Given the description of an element on the screen output the (x, y) to click on. 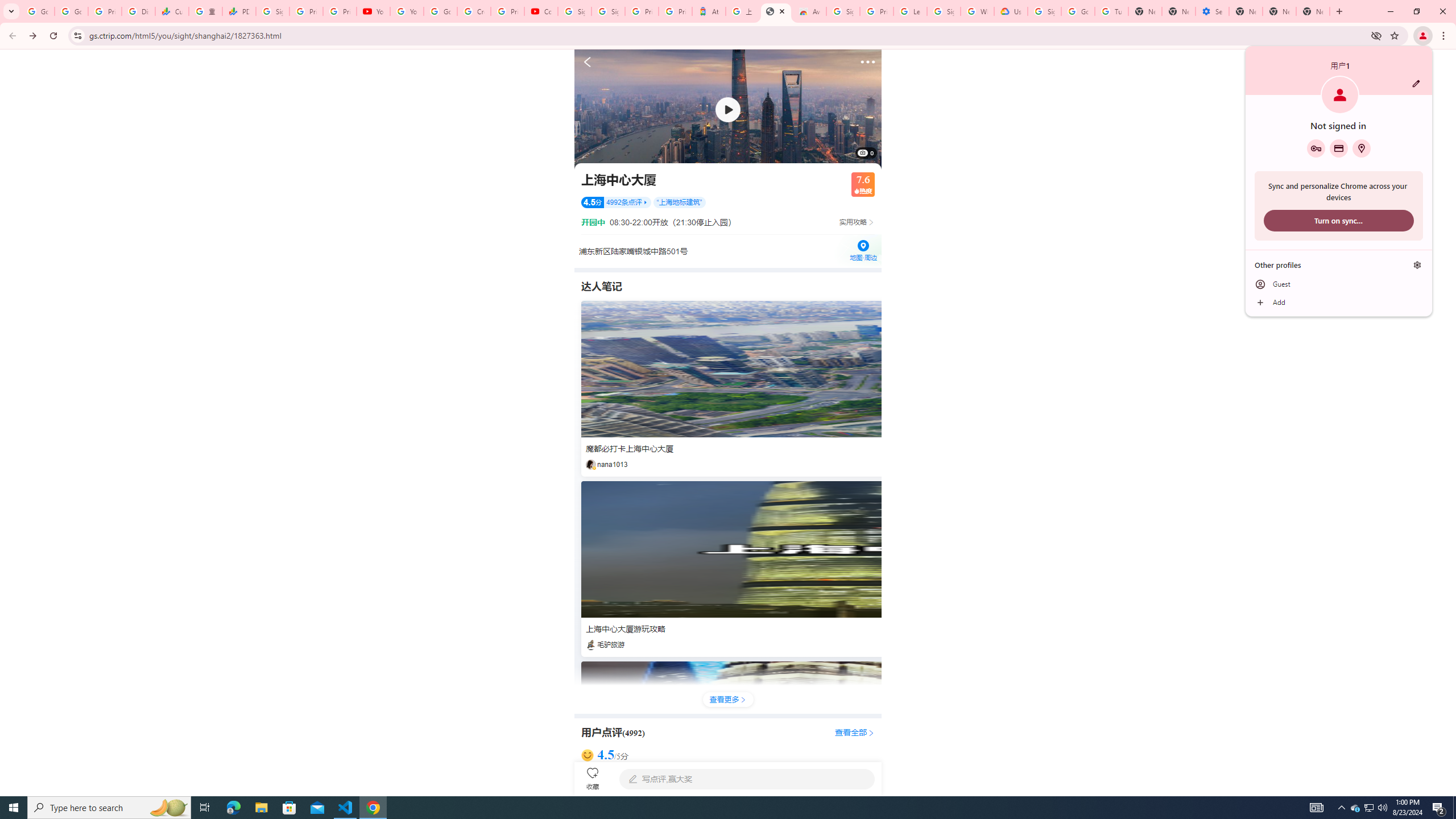
Sign in - Google Accounts (272, 11)
Sign in - Google Accounts (1043, 11)
Sign in - Google Accounts (842, 11)
File Explorer (261, 807)
